Given the description of an element on the screen output the (x, y) to click on. 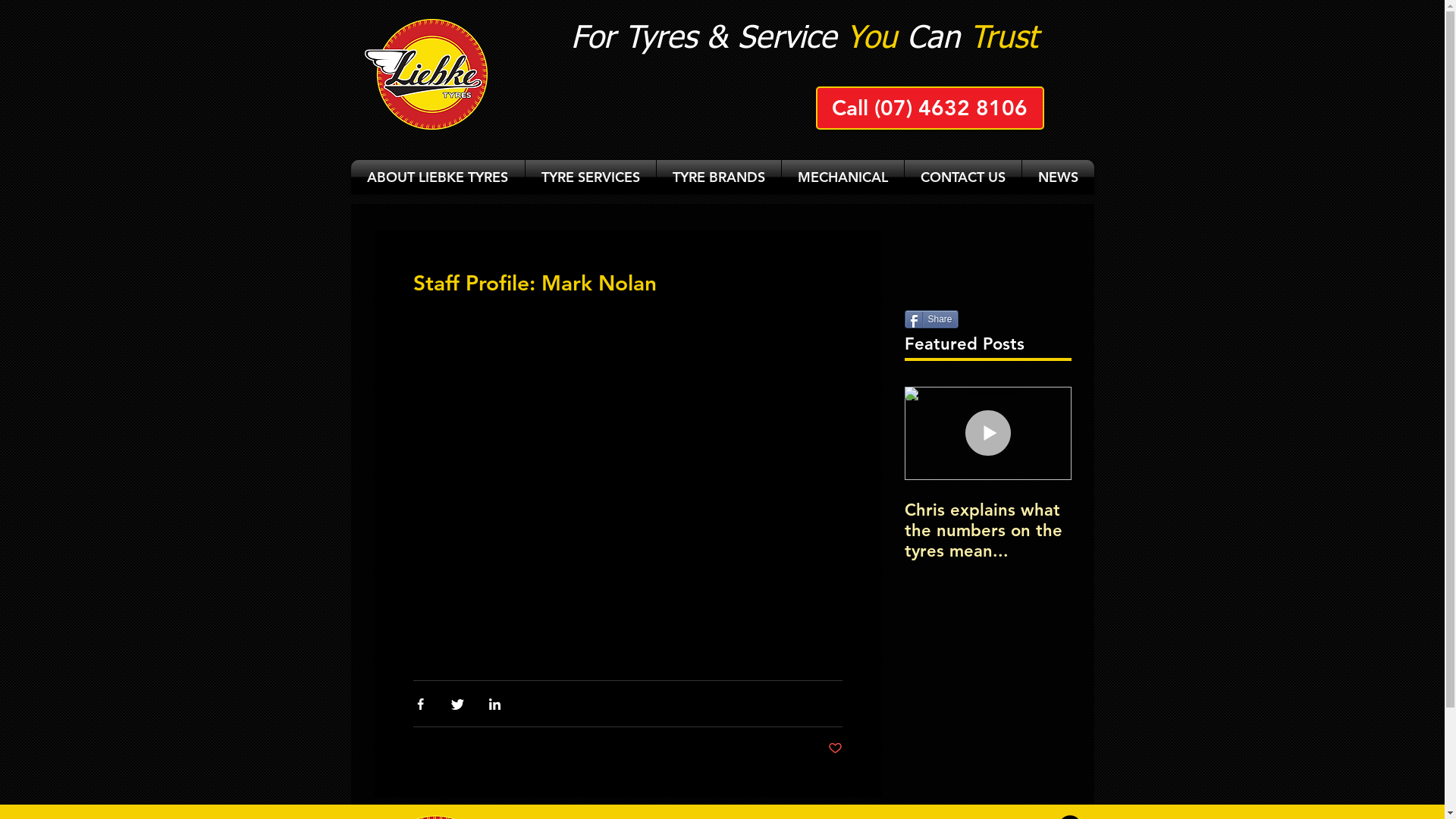
Chris explains what the numbers on the tyres mean... Element type: text (986, 530)
TYRE SERVICES Element type: text (589, 177)
Share Element type: text (930, 319)
Post not marked as liked Element type: text (835, 748)
ABOUT LIEBKE TYRES Element type: text (437, 177)
TYRE BRANDS Element type: text (718, 177)
Call (07) 4632 8106 Element type: text (929, 107)
MECHANICAL Element type: text (842, 177)
CONTACT US Element type: text (961, 177)
NEWS Element type: text (1058, 177)
